Given the description of an element on the screen output the (x, y) to click on. 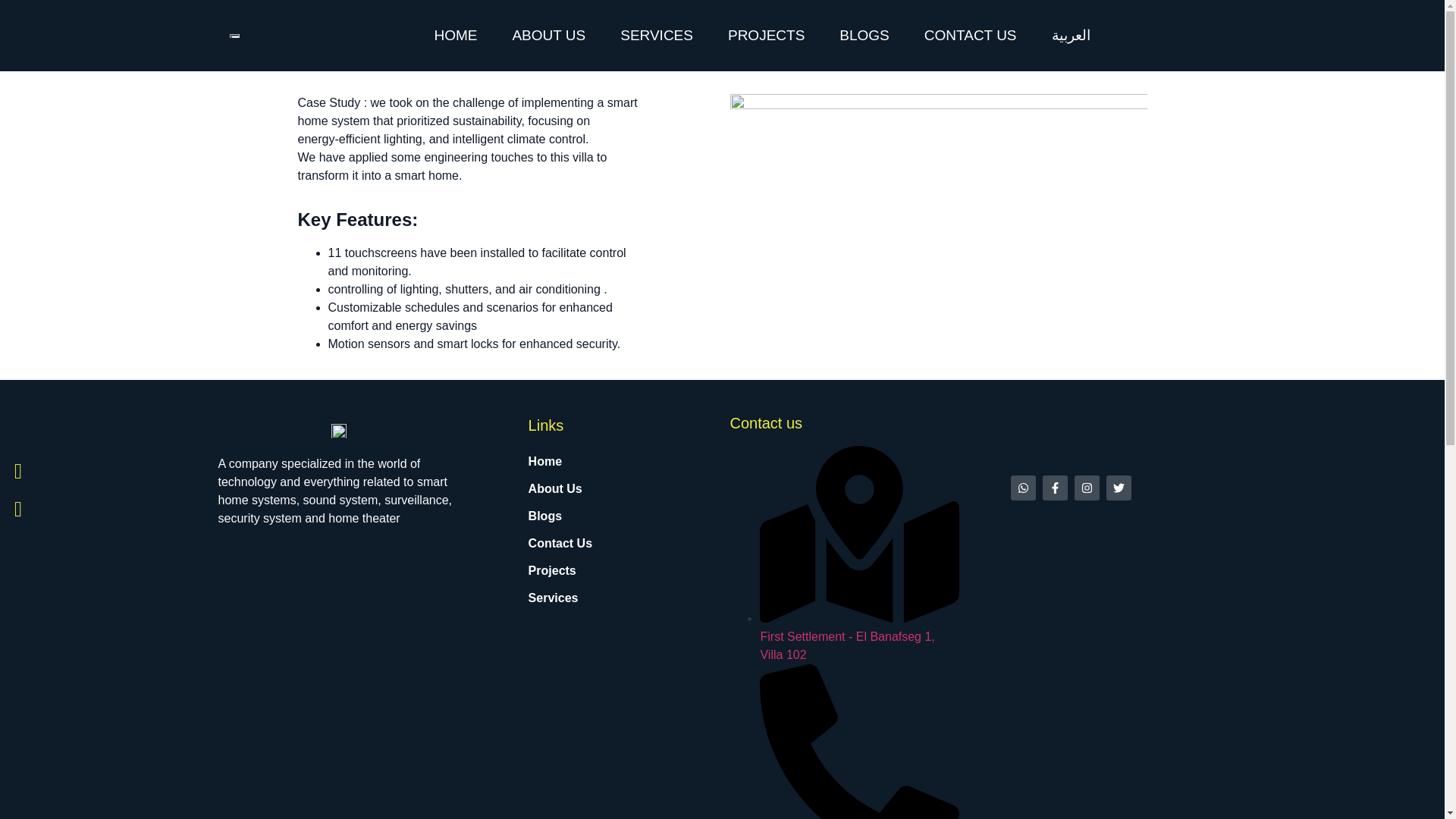
BLOGS (864, 35)
PROJECTS (766, 35)
Projects (602, 570)
About Us (602, 488)
SERVICES (656, 35)
Home (602, 461)
HOME (455, 35)
Blogs (602, 515)
Services (602, 597)
CONTACT US (970, 35)
